Given the description of an element on the screen output the (x, y) to click on. 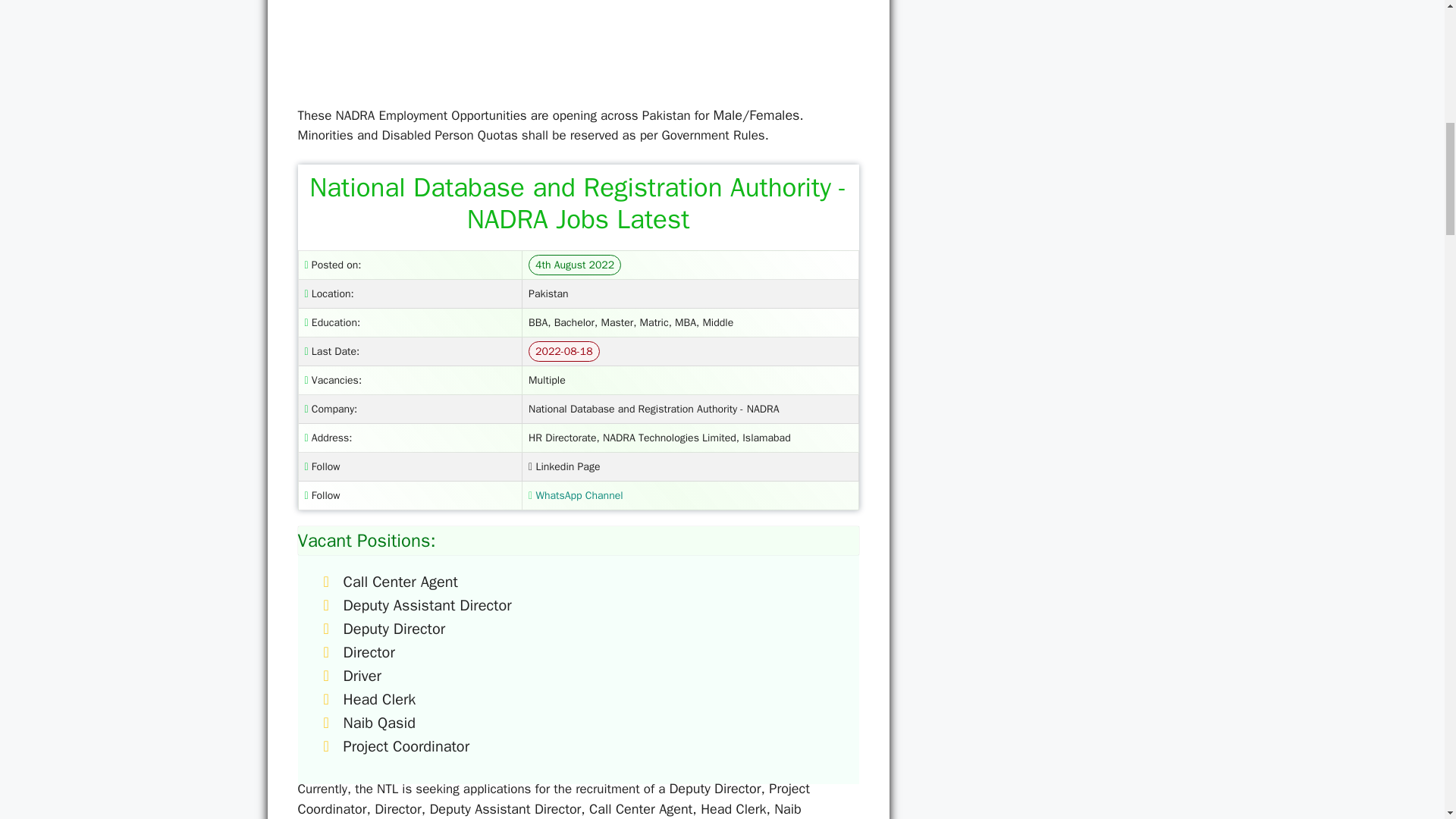
Linkedin Page (563, 466)
Pakistan (548, 293)
WhatsApp Channel (575, 495)
